Given the description of an element on the screen output the (x, y) to click on. 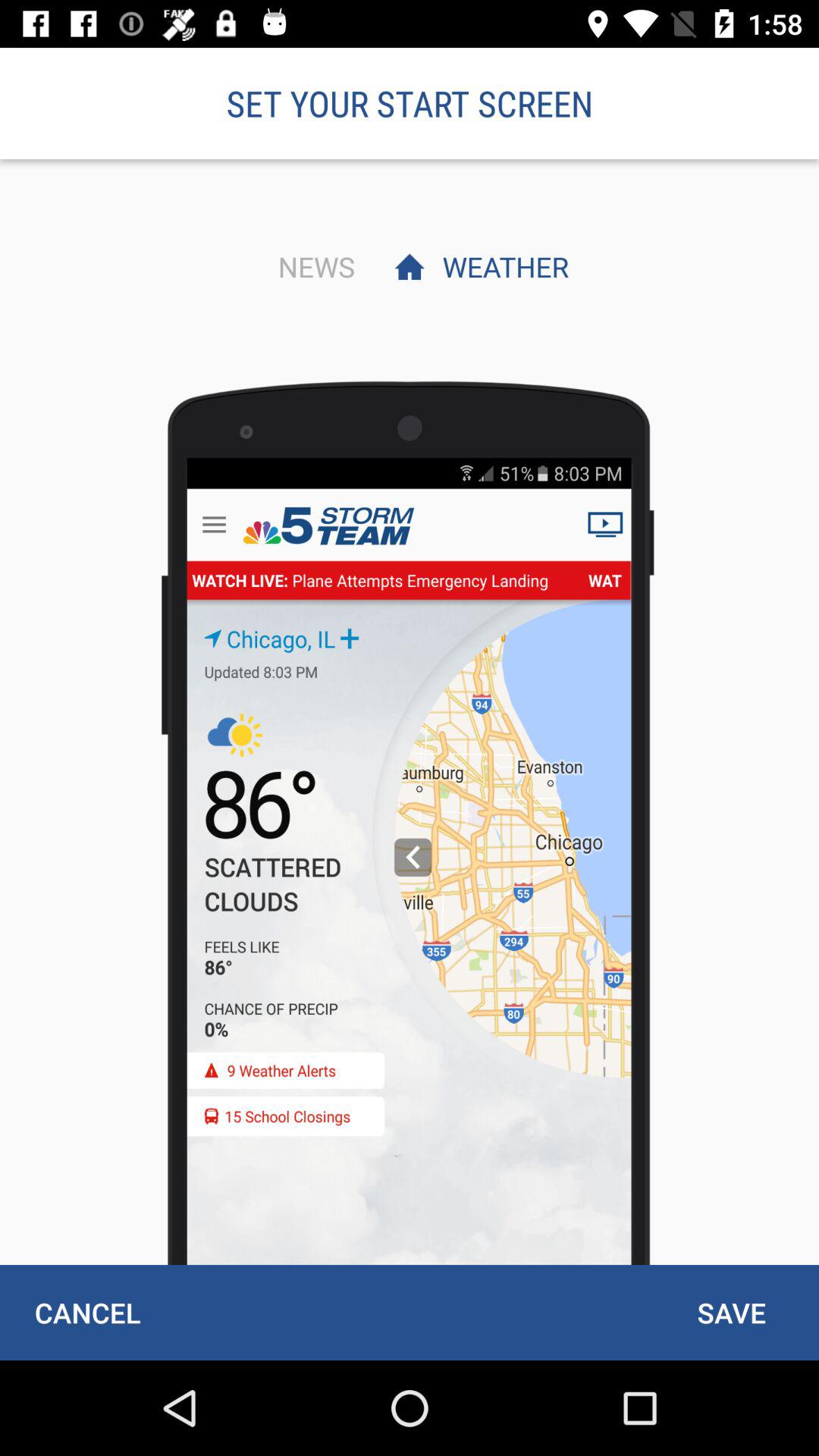
press set your start icon (409, 103)
